Given the description of an element on the screen output the (x, y) to click on. 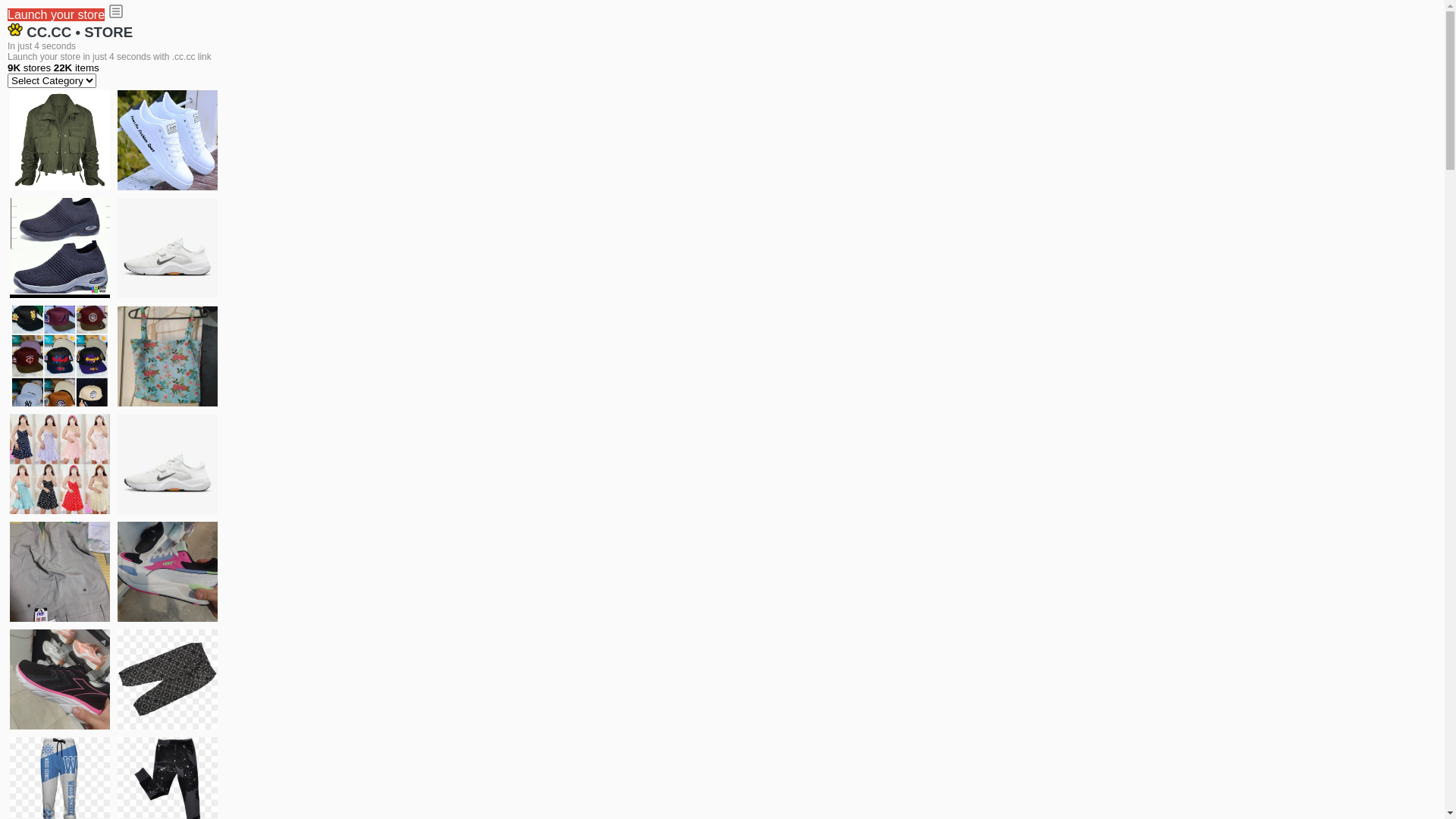
Things we need Element type: hover (59, 355)
Zapatillas pumas Element type: hover (167, 571)
Launch your store Element type: text (55, 14)
Ukay cloth Element type: hover (167, 356)
white shoes Element type: hover (167, 140)
Shoes for boys Element type: hover (167, 247)
shoes for boys Element type: hover (59, 247)
Dress/square nect top Element type: hover (59, 464)
jacket Element type: hover (59, 140)
Shoes Element type: hover (167, 464)
Zapatillas Element type: hover (59, 679)
Short pant Element type: hover (167, 679)
